Given the description of an element on the screen output the (x, y) to click on. 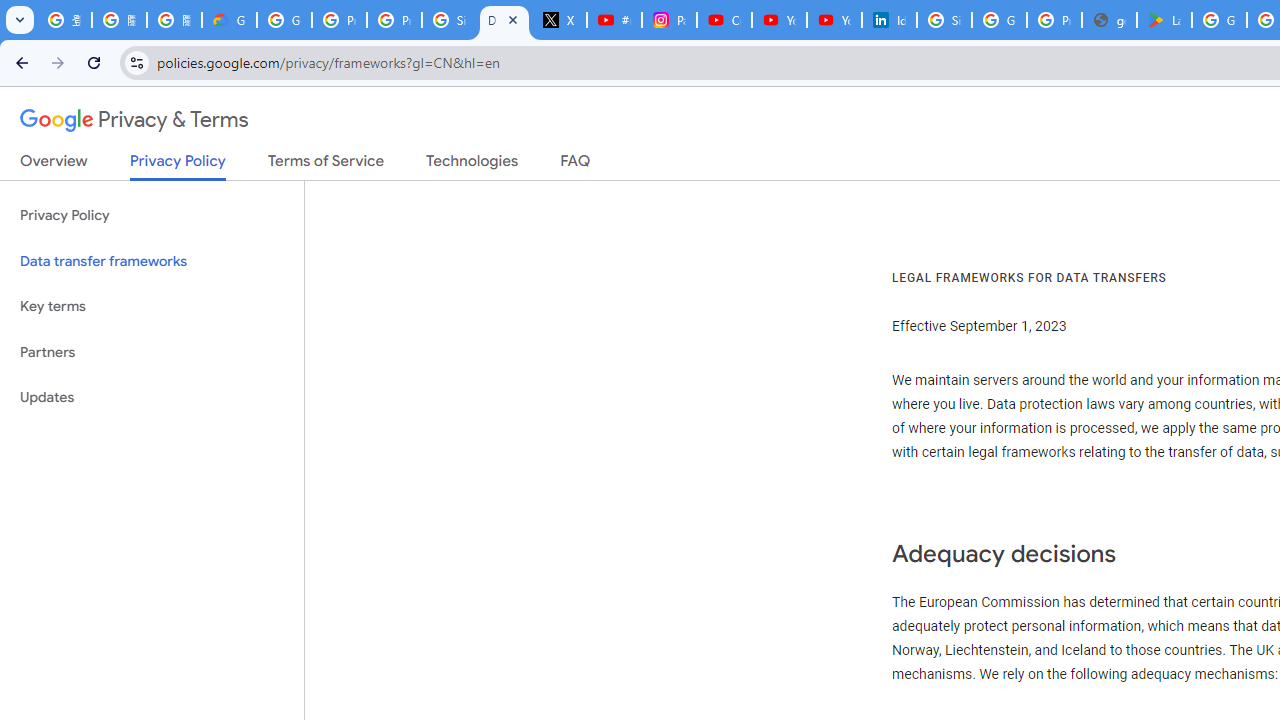
Google Cloud Privacy Notice (229, 20)
YouTube Culture & Trends - YouTube Top 10, 2021 (833, 20)
